Given the description of an element on the screen output the (x, y) to click on. 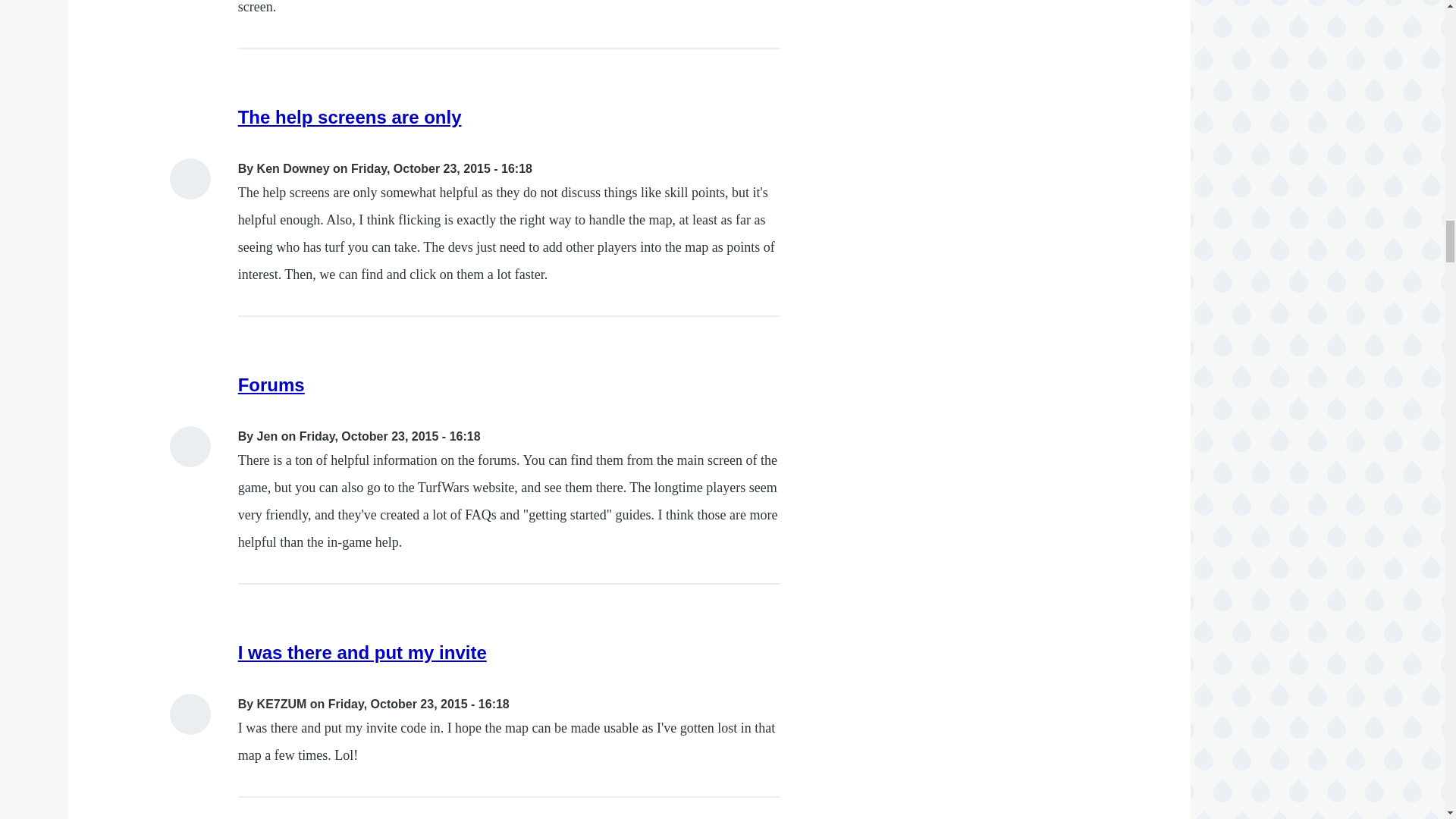
I was there and put my invite (362, 652)
Forums (271, 384)
The help screens are only (349, 117)
